Given the description of an element on the screen output the (x, y) to click on. 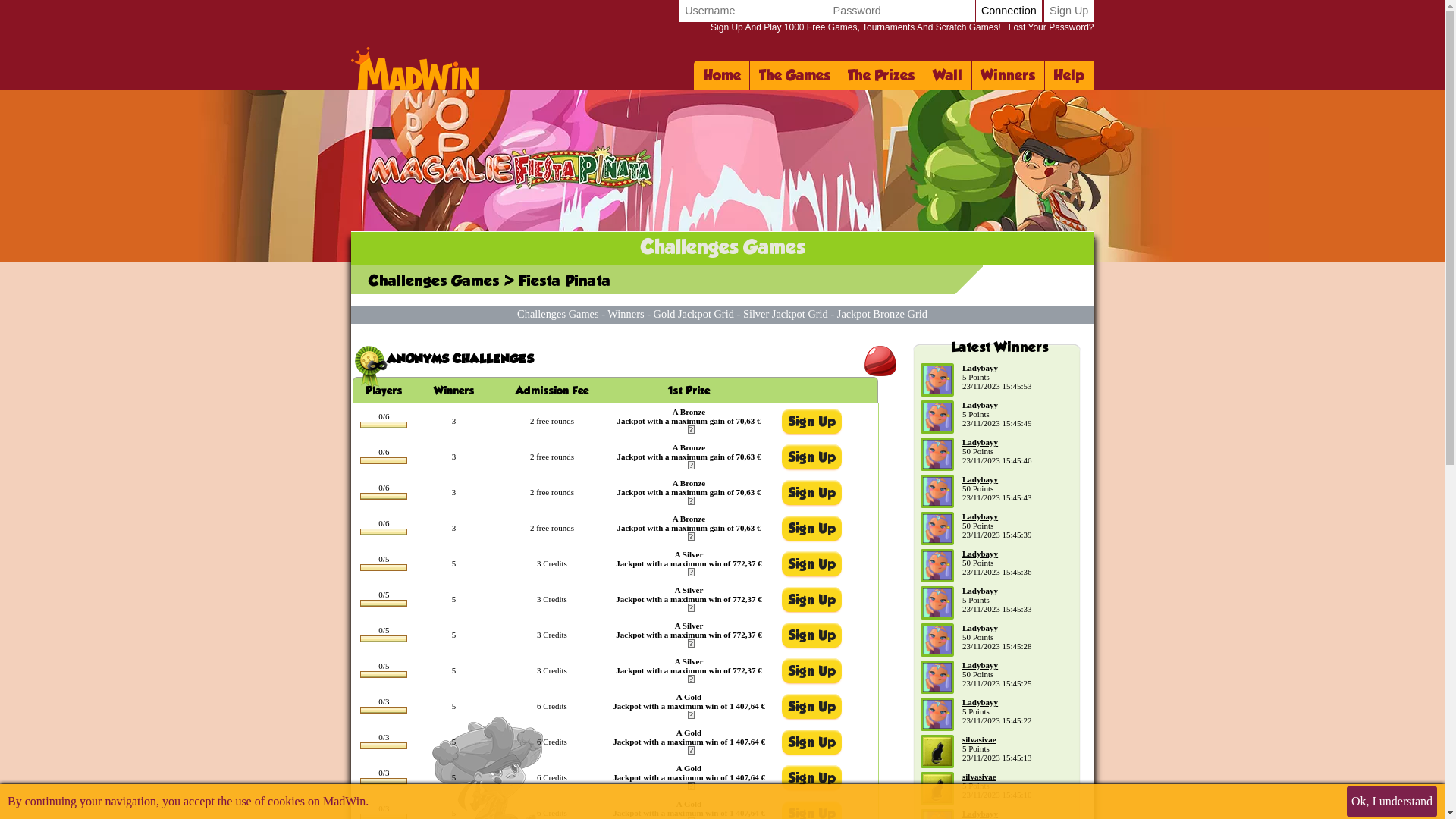
Ladybayy Element type: text (979, 553)
Ladybayy Element type: text (979, 813)
silvasivae Element type: text (979, 738)
Ladybayy Element type: text (979, 441)
Ladybayy Element type: text (979, 701)
Ladybayy Element type: text (979, 664)
silvasivae Element type: text (979, 776)
Challenges Games Element type: text (558, 313)
Connection Element type: text (1008, 10)
Ladybayy Element type: text (979, 404)
Help Element type: text (1069, 75)
The Prizes Element type: text (881, 75)
Home Element type: text (721, 75)
Jackpot Bronze Grid Element type: text (882, 313)
Ladybayy Element type: text (979, 367)
Sign Up Element type: text (1069, 10)
Winners Element type: text (625, 313)
Challenges Games Element type: text (433, 280)
Sign Up Element type: text (1068, 10)
Ladybayy Element type: text (979, 515)
Winners Element type: text (1008, 75)
The Games Element type: text (794, 75)
Wall Element type: text (948, 75)
Ladybayy Element type: text (979, 478)
Silver Jackpot Grid Element type: text (785, 313)
Gold Jackpot Grid Element type: text (693, 313)
Ladybayy Element type: text (979, 627)
Ladybayy Element type: text (979, 590)
Ok, I understand Element type: text (1391, 801)
